Given the description of an element on the screen output the (x, y) to click on. 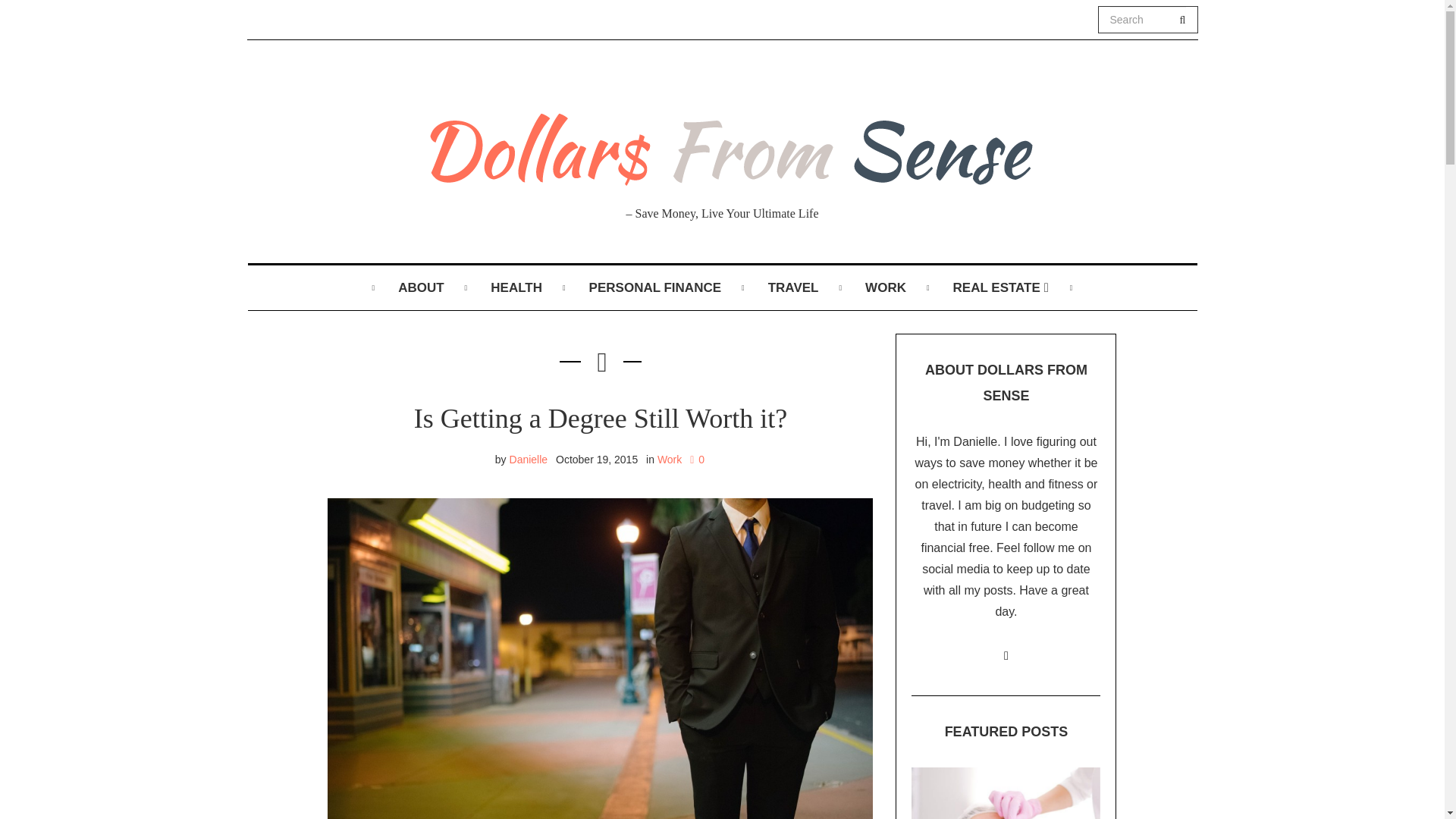
ABOUT (420, 288)
TRAVEL (793, 288)
REAL ESTATE (1000, 288)
WORK (885, 288)
PERSONAL FINANCE (655, 288)
Dollars From Sense (721, 144)
HEALTH (515, 288)
